Given the description of an element on the screen output the (x, y) to click on. 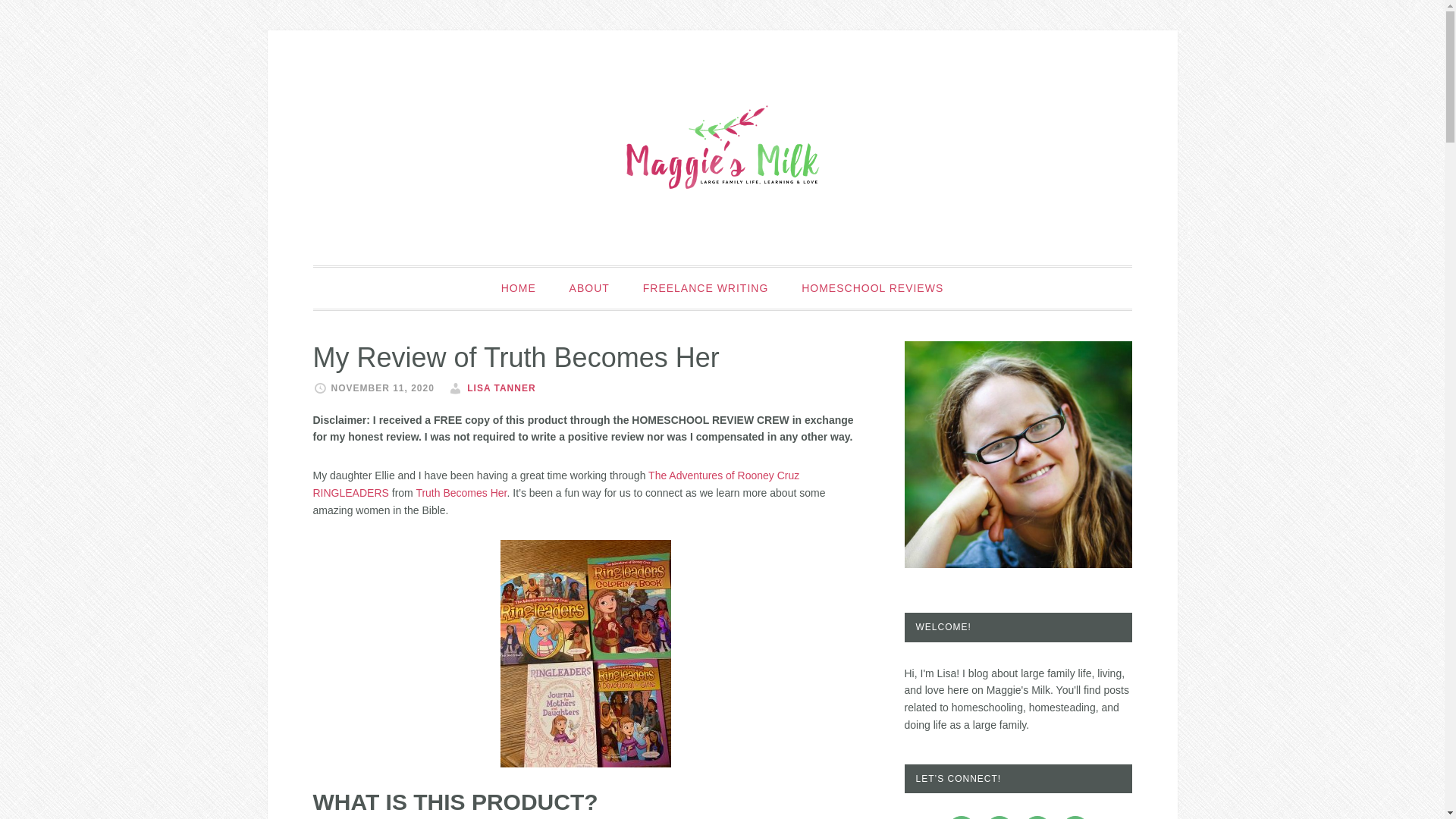
ABOUT (589, 287)
MAGGIE'S MILK (722, 147)
HOME (518, 287)
FREELANCE WRITING (705, 287)
The Adventures of Rooney Cruz RINGLEADERS (556, 483)
Truth Becomes Her (460, 492)
HOMESCHOOL REVIEWS (872, 287)
LISA TANNER (501, 388)
